Given the description of an element on the screen output the (x, y) to click on. 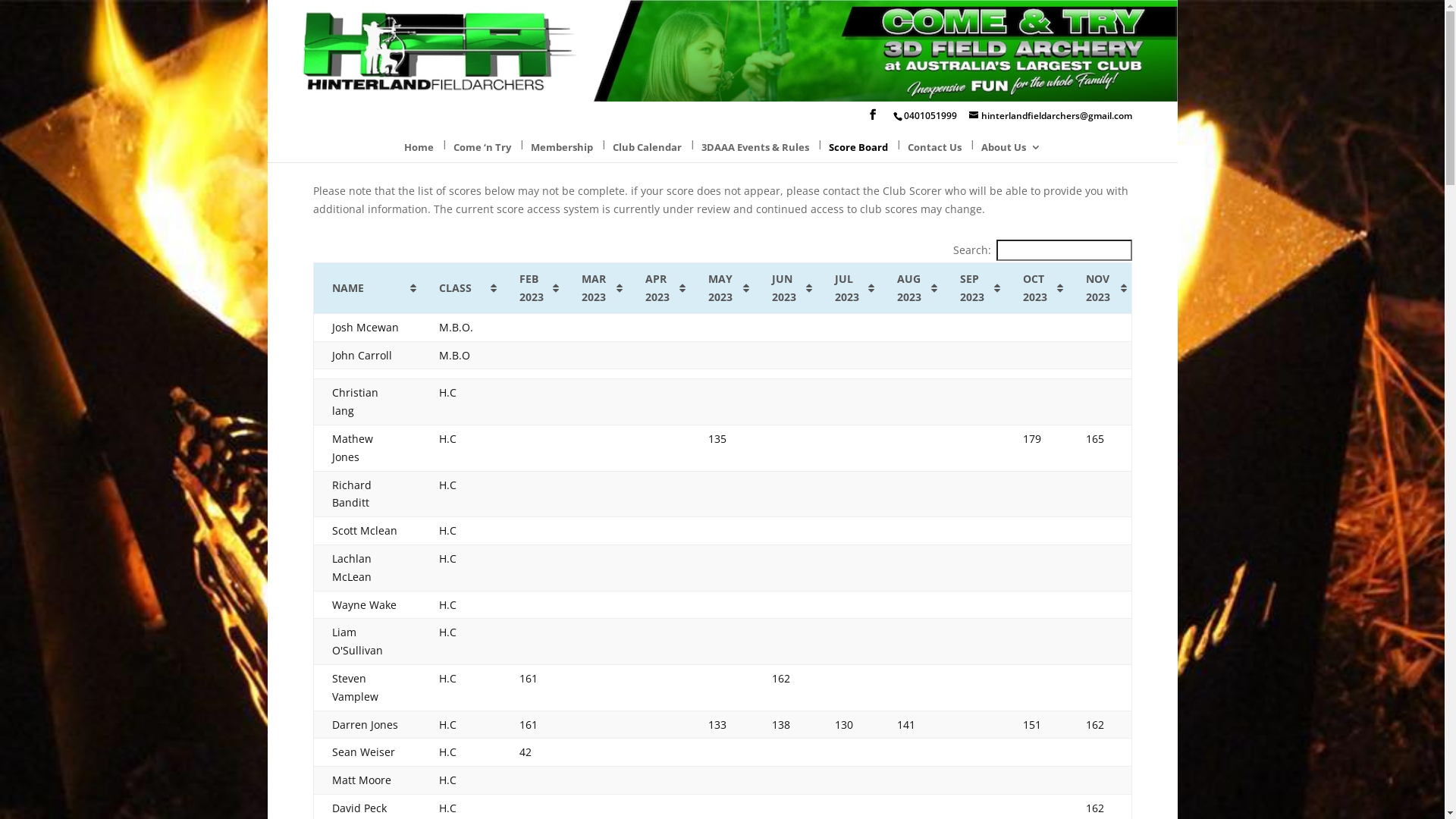
Club Calendar Element type: text (646, 150)
About Us Element type: text (1011, 150)
3DAAA Events & Rules Element type: text (754, 150)
Home Element type: text (418, 150)
Score Board Element type: text (857, 150)
0401051999 Element type: text (929, 115)
Contact Us Element type: text (933, 150)
Membership Element type: text (561, 150)
hinterlandfieldarchers@gmail.com Element type: text (1050, 115)
